Given the description of an element on the screen output the (x, y) to click on. 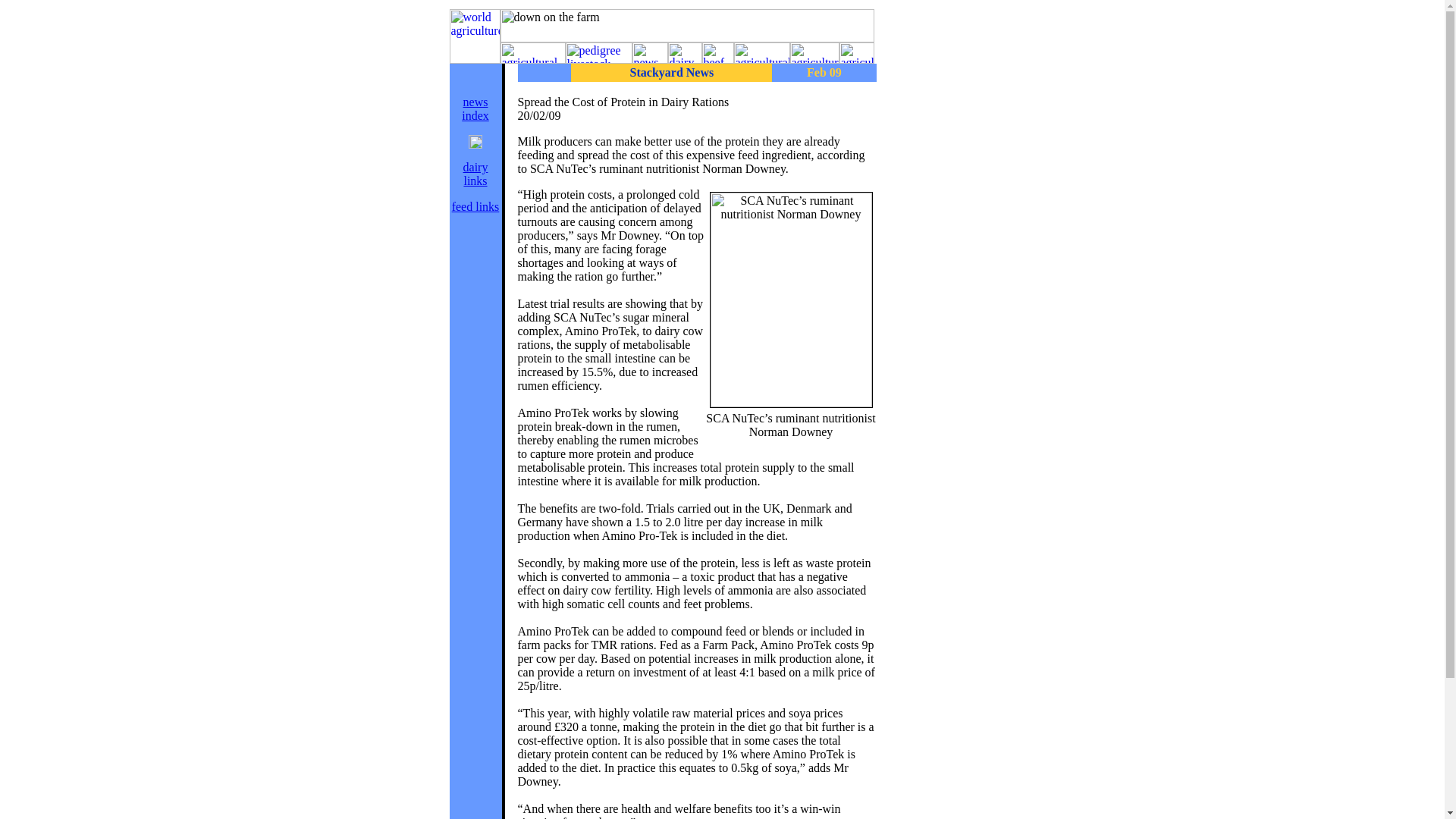
news index (475, 173)
feed links (475, 108)
